Given the description of an element on the screen output the (x, y) to click on. 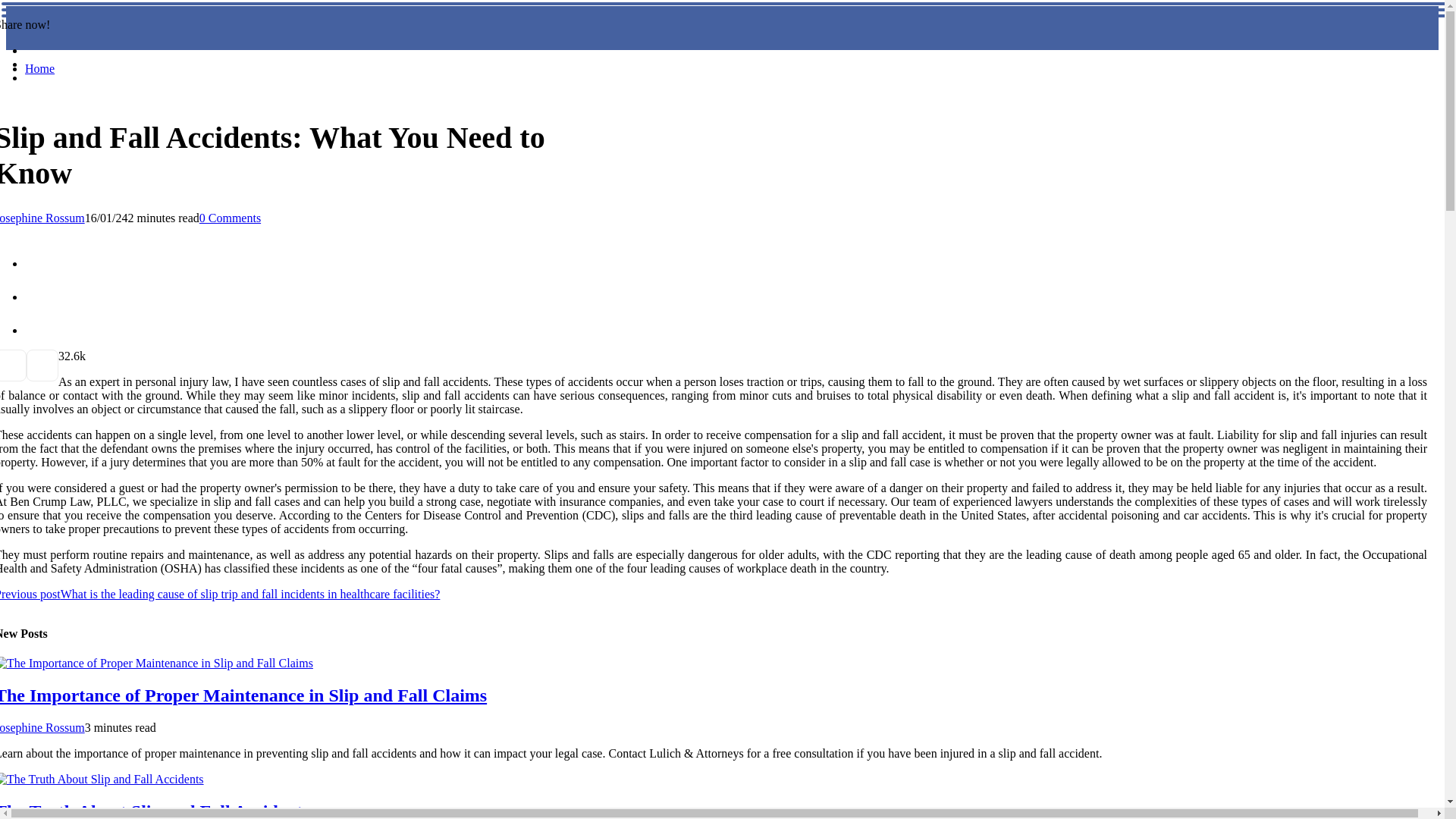
Posts by Josephine Rossum (42, 217)
Home (39, 68)
Josephine Rossum (42, 217)
The Truth About Slip and Fall Accidents (154, 810)
Josephine Rossum (42, 727)
The Importance of Proper Maintenance in Slip and Fall Claims (243, 695)
0 Comments (229, 217)
Posts by Josephine Rossum (42, 727)
